Given the description of an element on the screen output the (x, y) to click on. 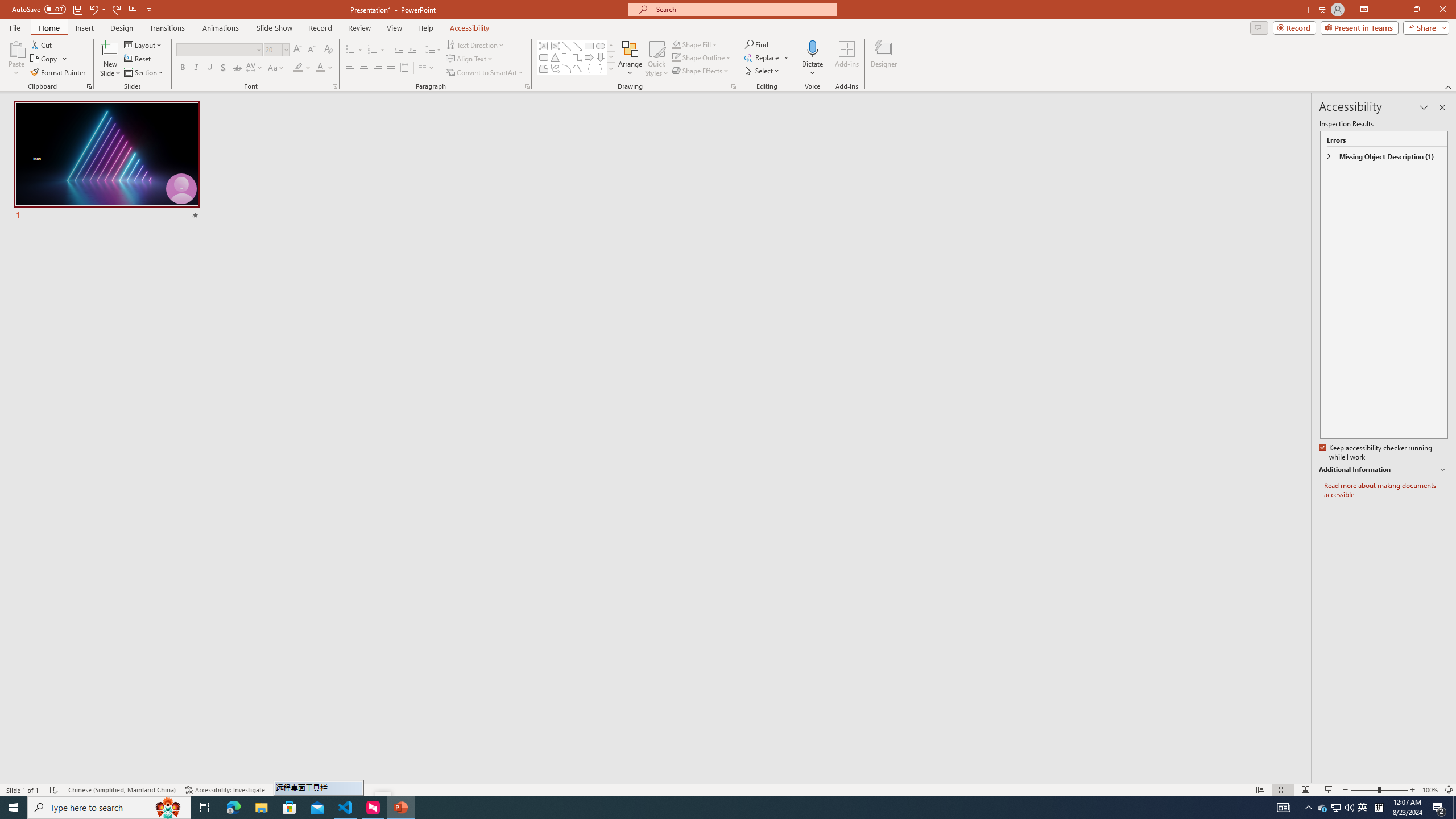
Connector: Elbow (566, 57)
Paragraph... (526, 85)
Keep accessibility checker running while I work (1376, 452)
Zoom 100% (1430, 790)
Layout (143, 44)
Line Spacing (433, 49)
Increase Font Size (297, 49)
Isosceles Triangle (554, 57)
Character Spacing (254, 67)
